Given the description of an element on the screen output the (x, y) to click on. 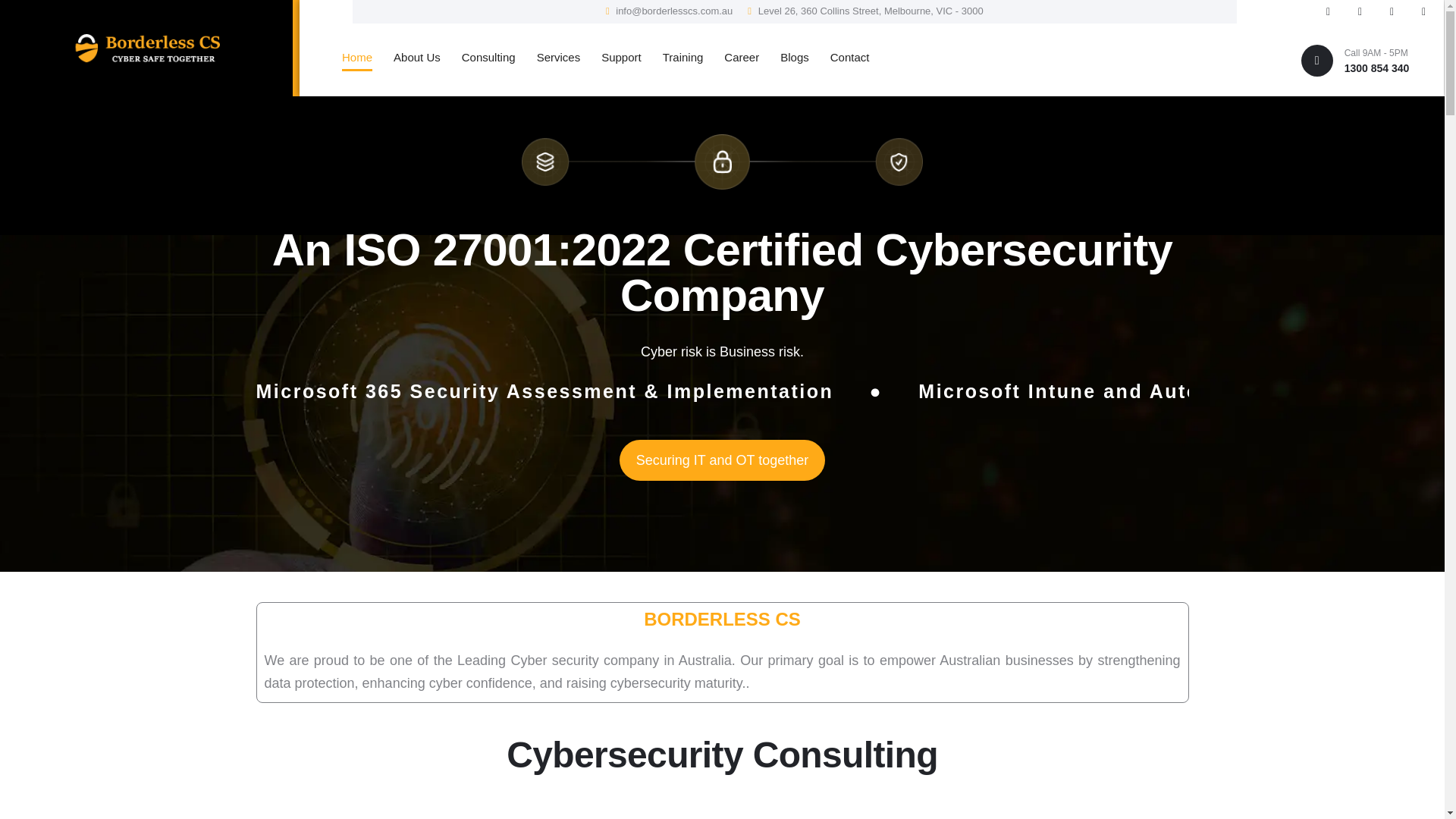
Contact (842, 56)
About Us (409, 56)
Services (552, 56)
Consulting (481, 56)
Home (349, 56)
Home (349, 56)
Services (552, 56)
Career (734, 56)
Blogs (787, 56)
About Us (409, 56)
Header Layout Style1 1 (145, 47)
Consulting (481, 56)
Training (676, 56)
Support (614, 56)
